Given the description of an element on the screen output the (x, y) to click on. 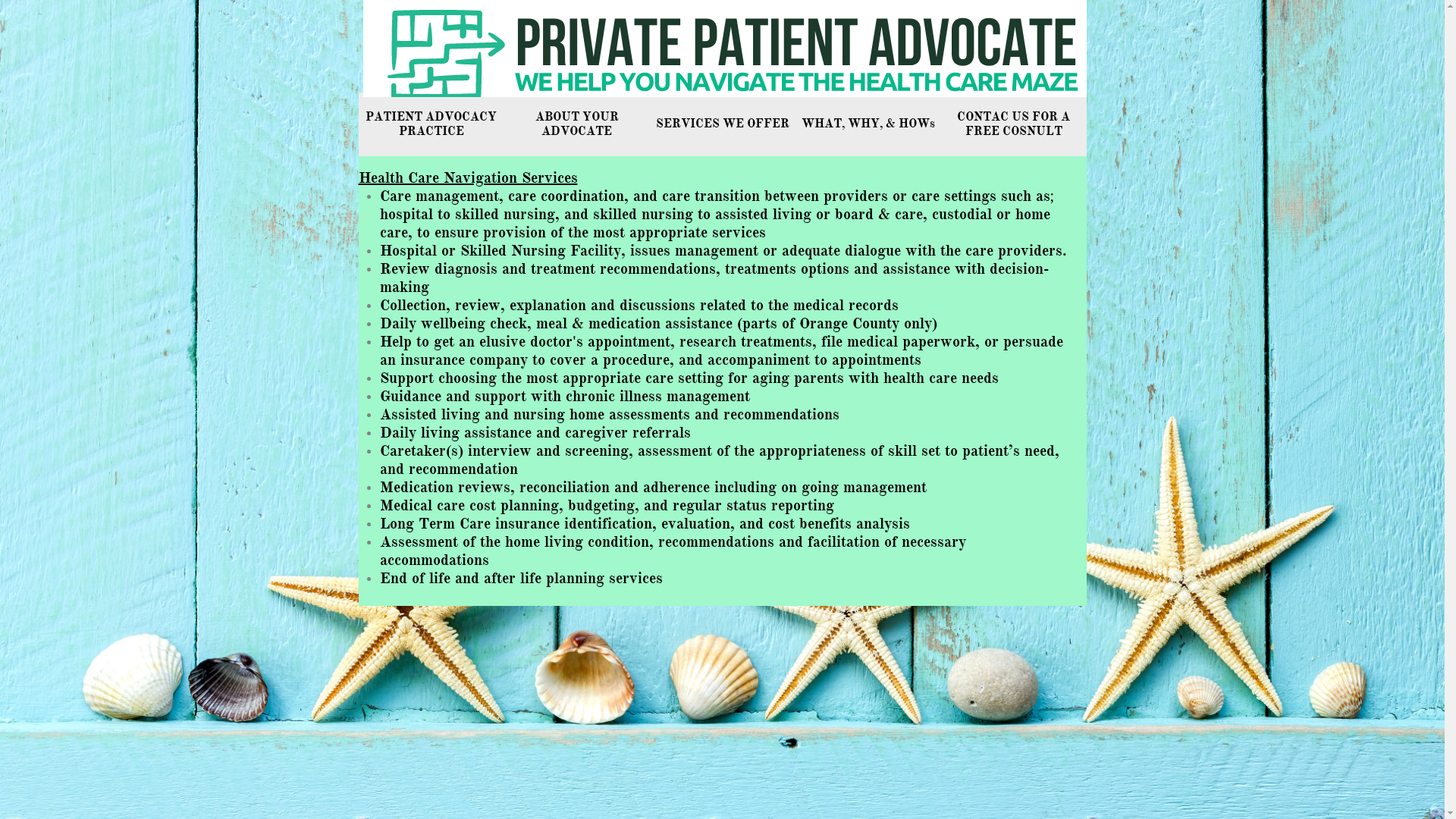
ABOUT YOUR ADVOCATE Element type: text (576, 124)
WHAT, WHY, & HOWs Element type: text (867, 124)
SERVICES WE OFFER Element type: text (721, 124)
PATIENT ADVOCACY PRACTICE Element type: text (430, 124)
CONTAC US FOR A FREE COSNULT Element type: text (1012, 124)
